Given the description of an element on the screen output the (x, y) to click on. 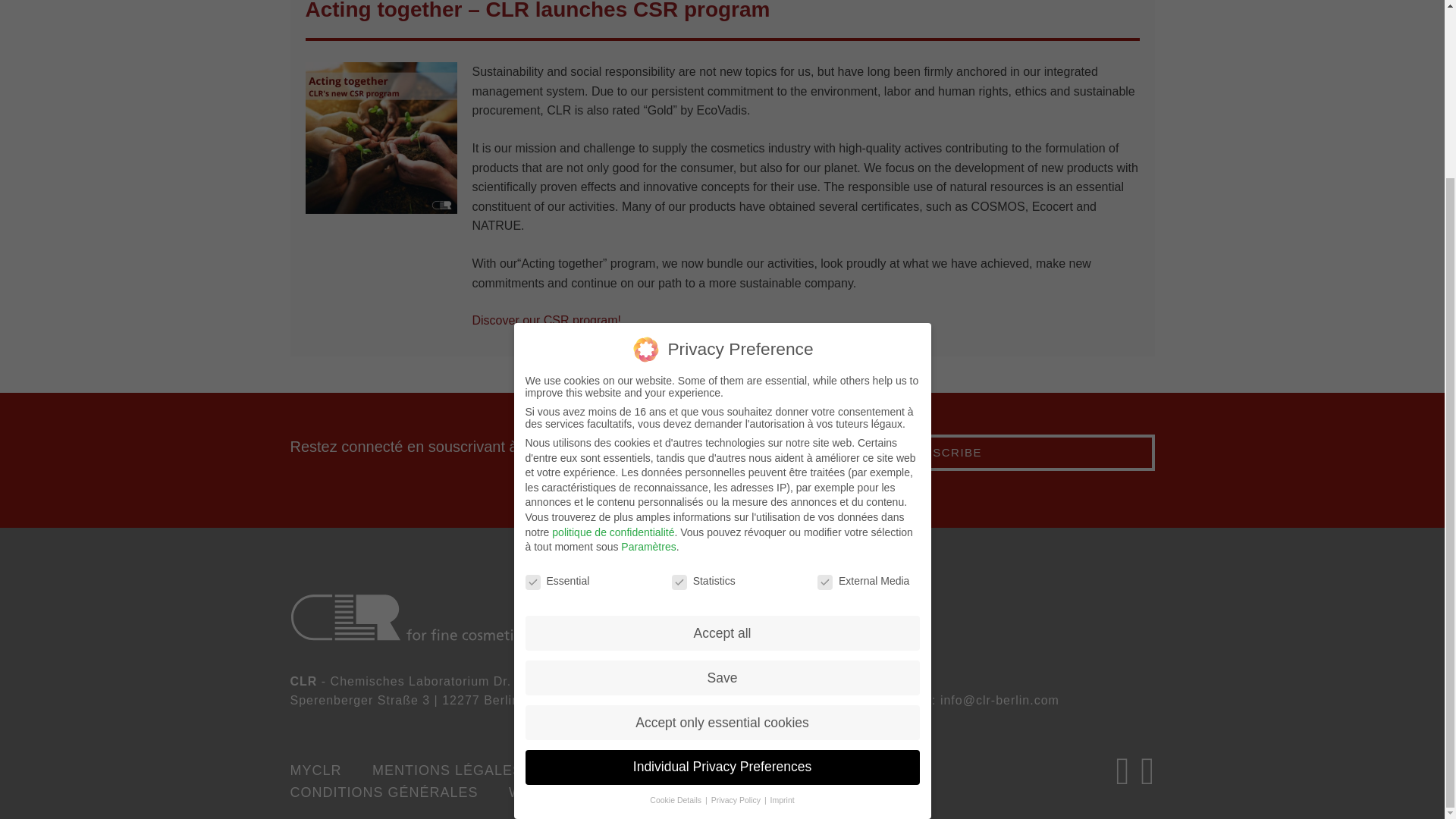
SUBSCRIBE (943, 452)
MYCLR (328, 771)
WHISTLEBLOWER PROTECTION ACT (654, 792)
Discover our CSR program! (546, 319)
